Given the description of an element on the screen output the (x, y) to click on. 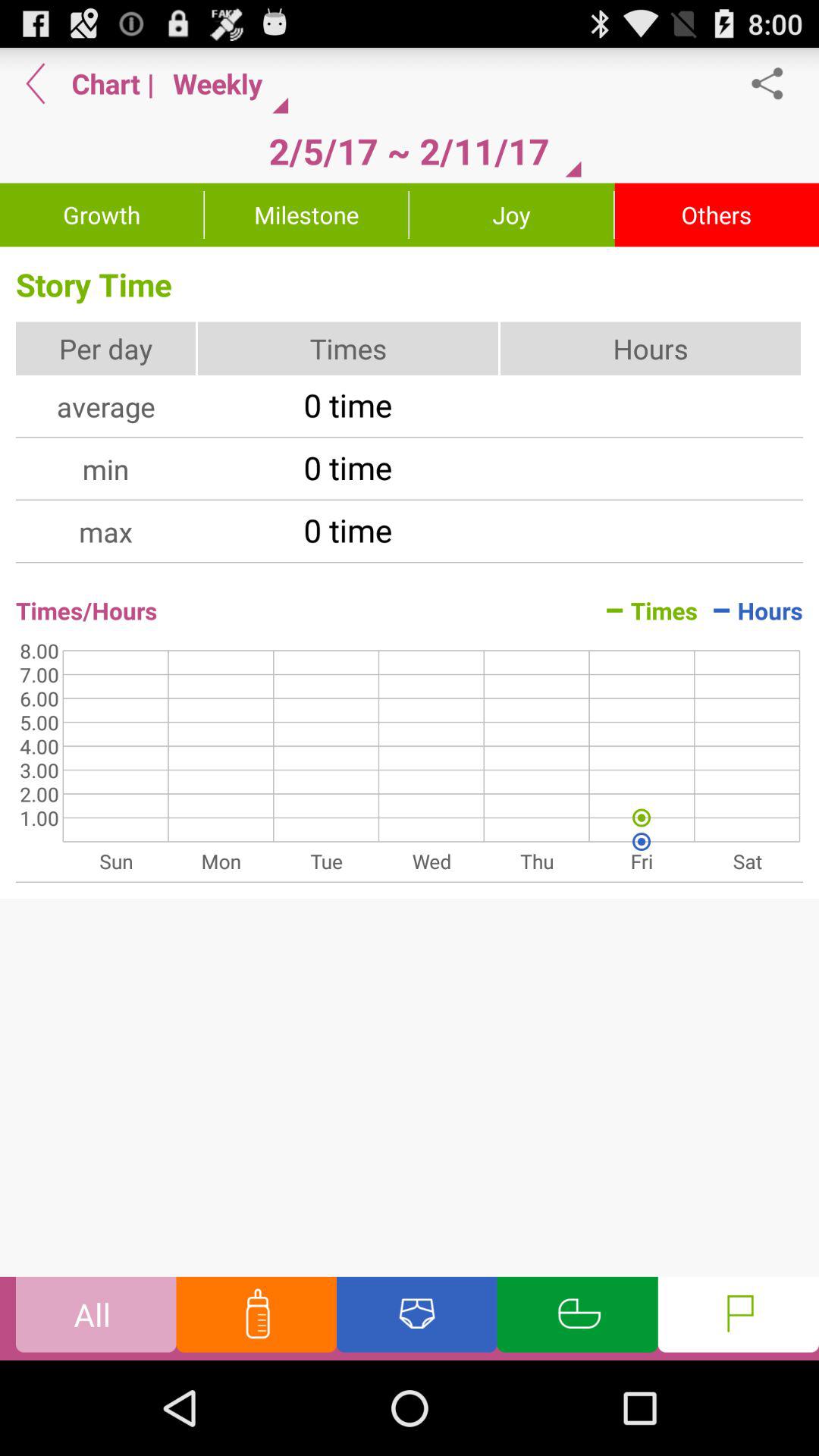
open the icon above growth button (35, 83)
